Given the description of an element on the screen output the (x, y) to click on. 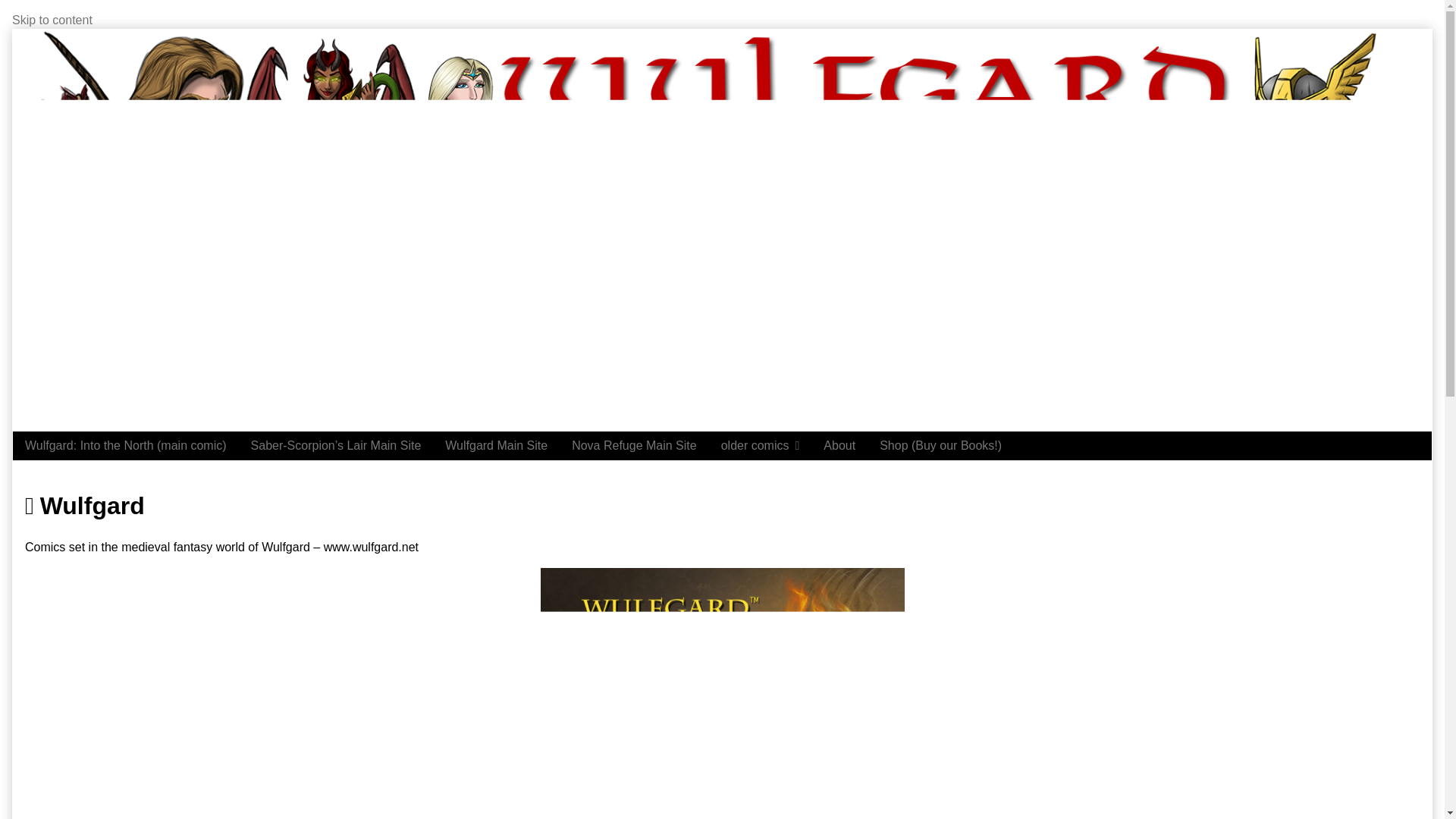
About (838, 445)
Cover Art for Wulfgard: The Tomb of Ankhu (722, 693)
older comics (760, 445)
Nova Refuge Main Site (634, 445)
Wulfgard Main Site (495, 445)
Skip to content (52, 19)
